Given the description of an element on the screen output the (x, y) to click on. 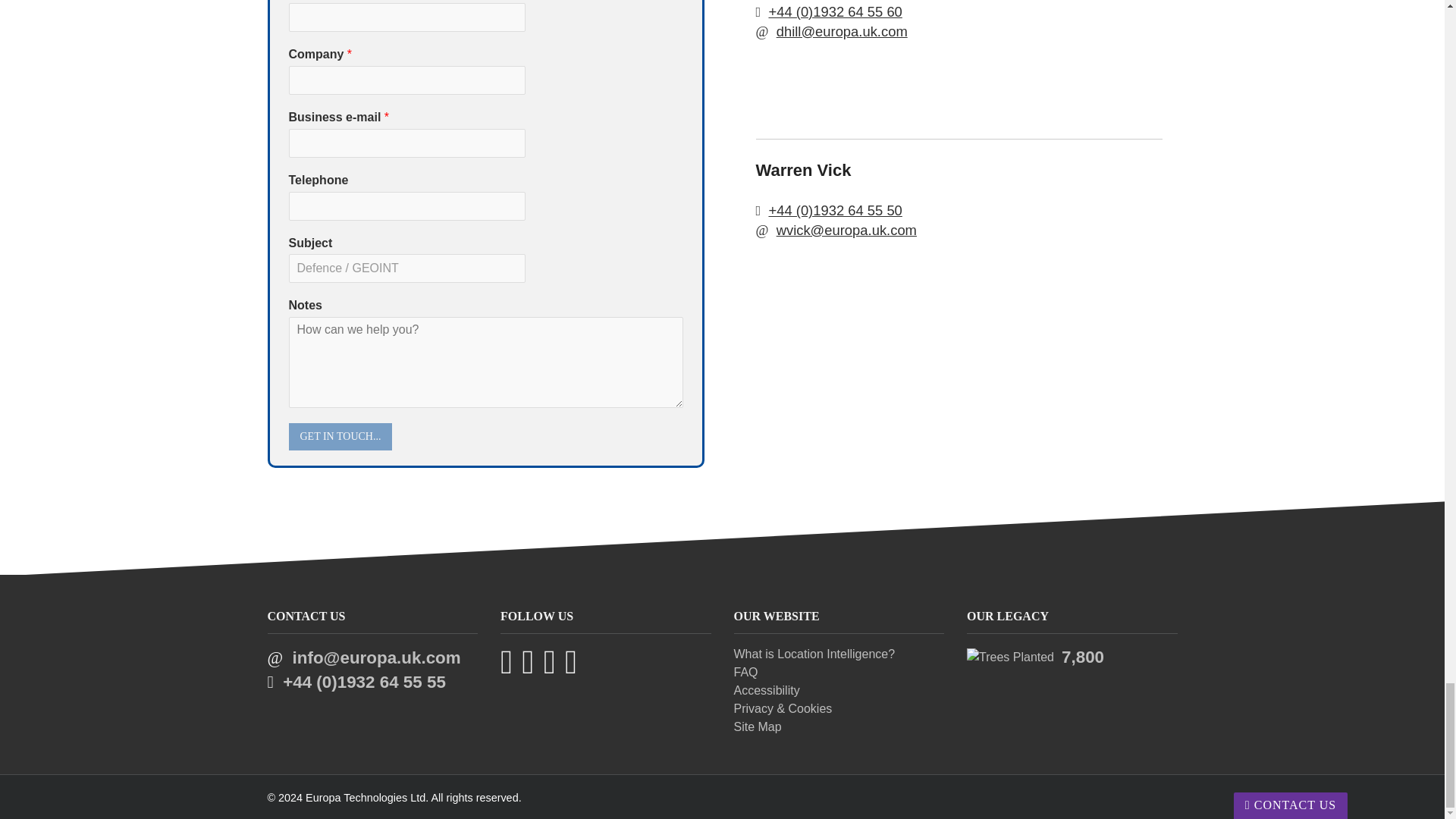
Trees Planted (1010, 657)
